Given the description of an element on the screen output the (x, y) to click on. 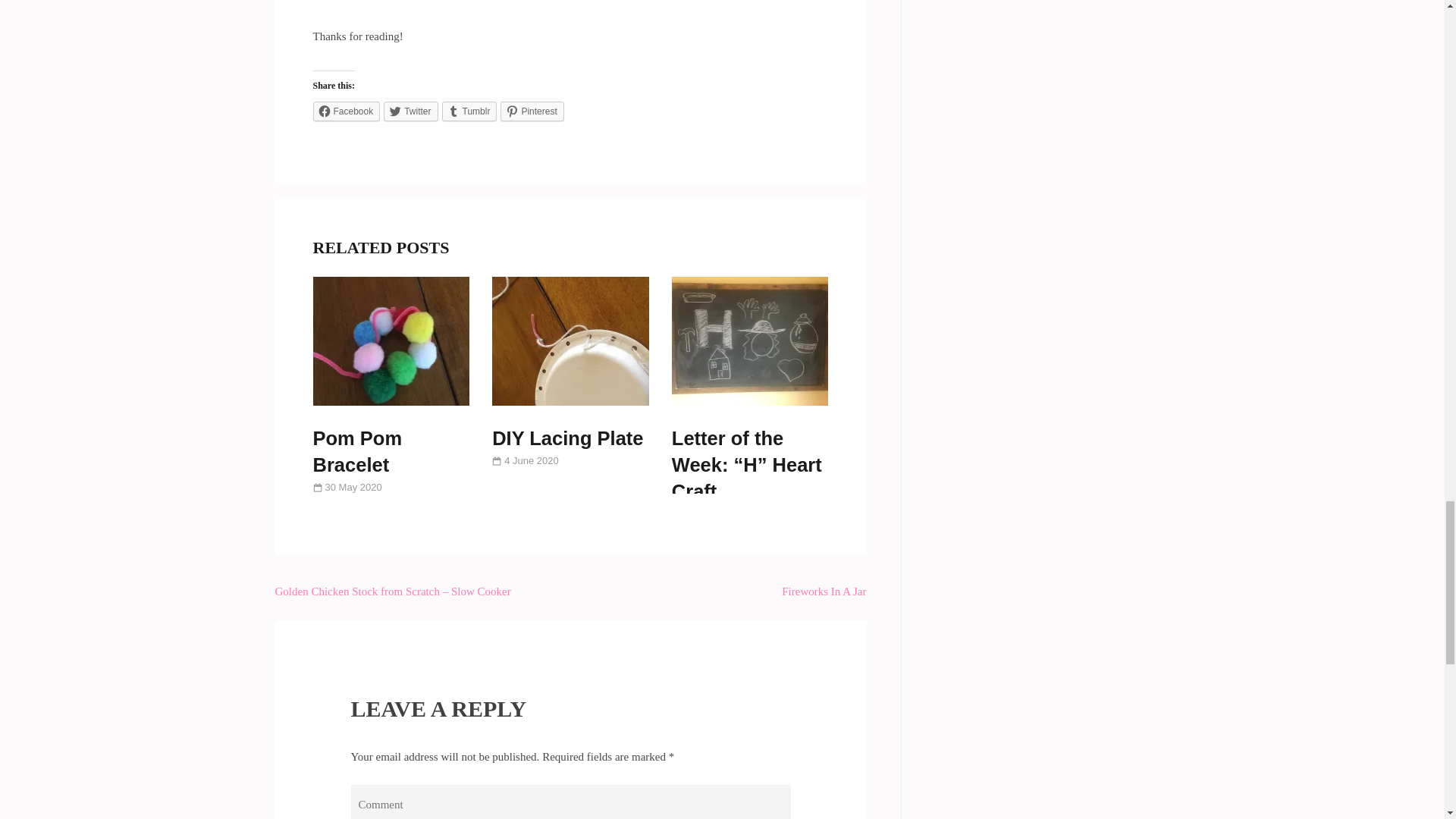
Click to share on Tumblr (469, 111)
Click to share on Pinterest (531, 111)
Click to share on Twitter (411, 111)
Click to share on Facebook (346, 111)
